Given the description of an element on the screen output the (x, y) to click on. 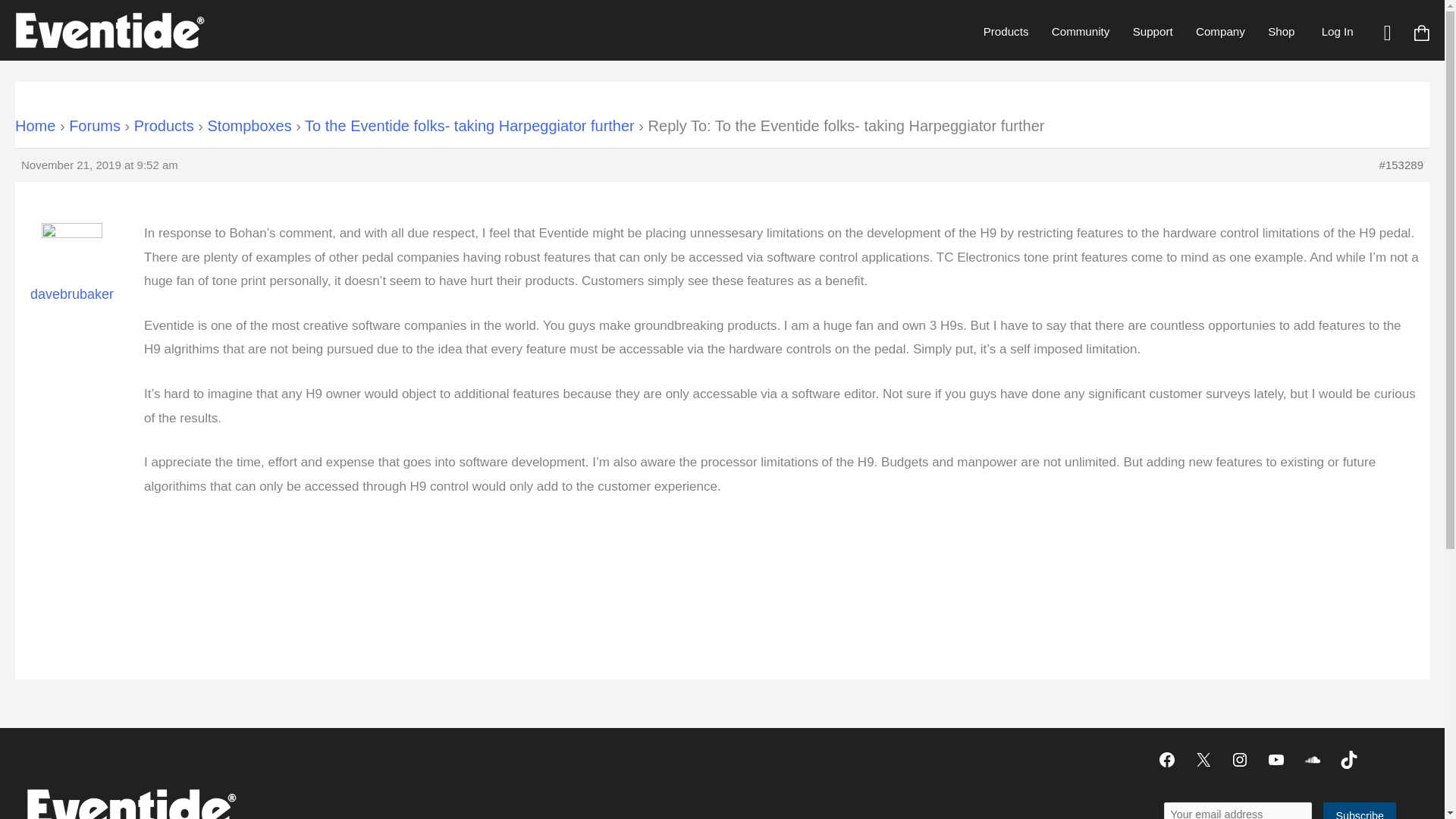
Shop (1281, 31)
Community (1081, 31)
Products (1006, 31)
Support (1152, 31)
eventide-logo-white (130, 803)
Subscribe (1359, 810)
Company (1220, 31)
View davebrubaker's profile (71, 273)
Log In (1337, 31)
